Given the description of an element on the screen output the (x, y) to click on. 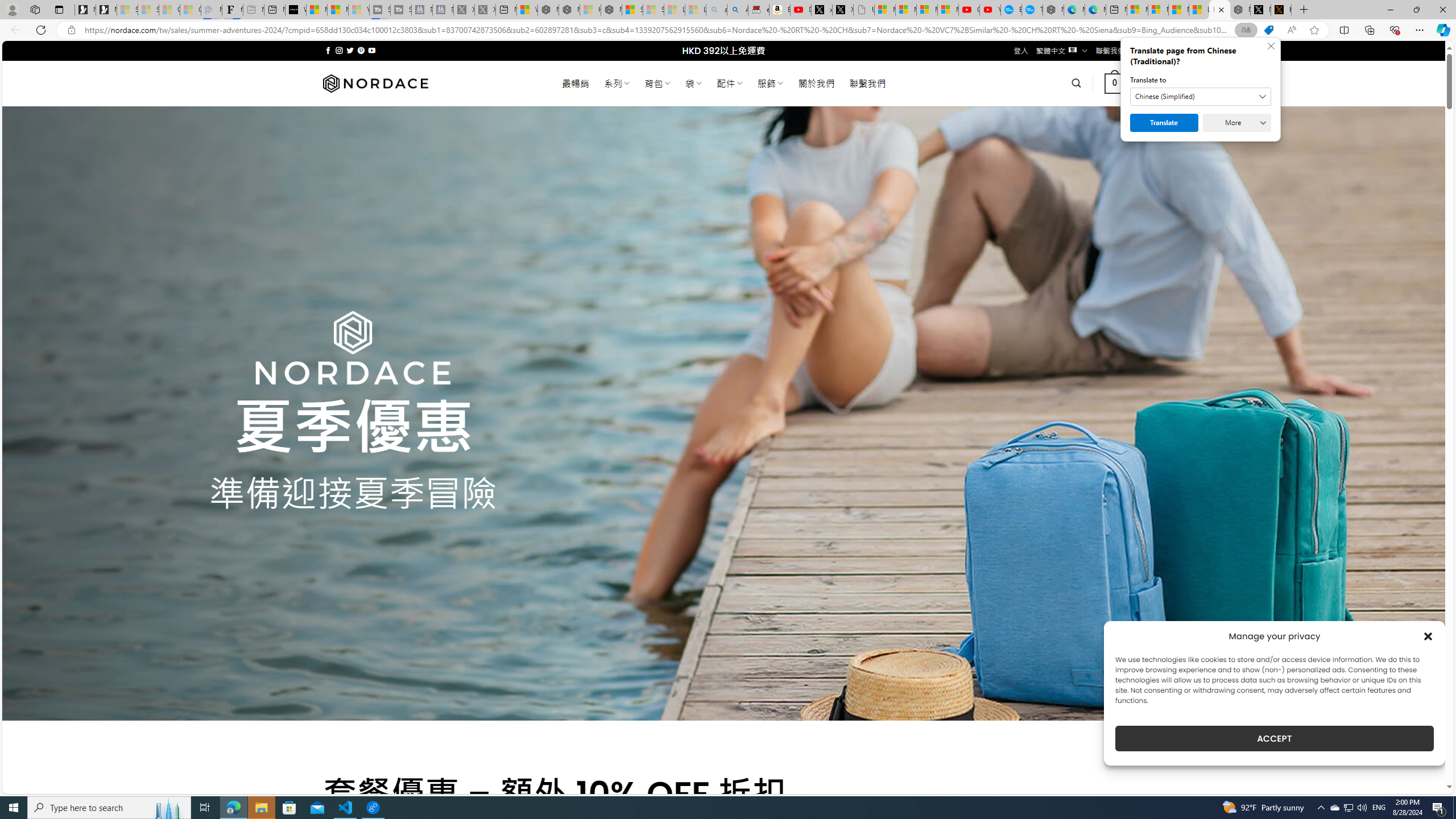
YouTube Kids - An App Created for Kids to Explore Content (990, 9)
